Given the description of an element on the screen output the (x, y) to click on. 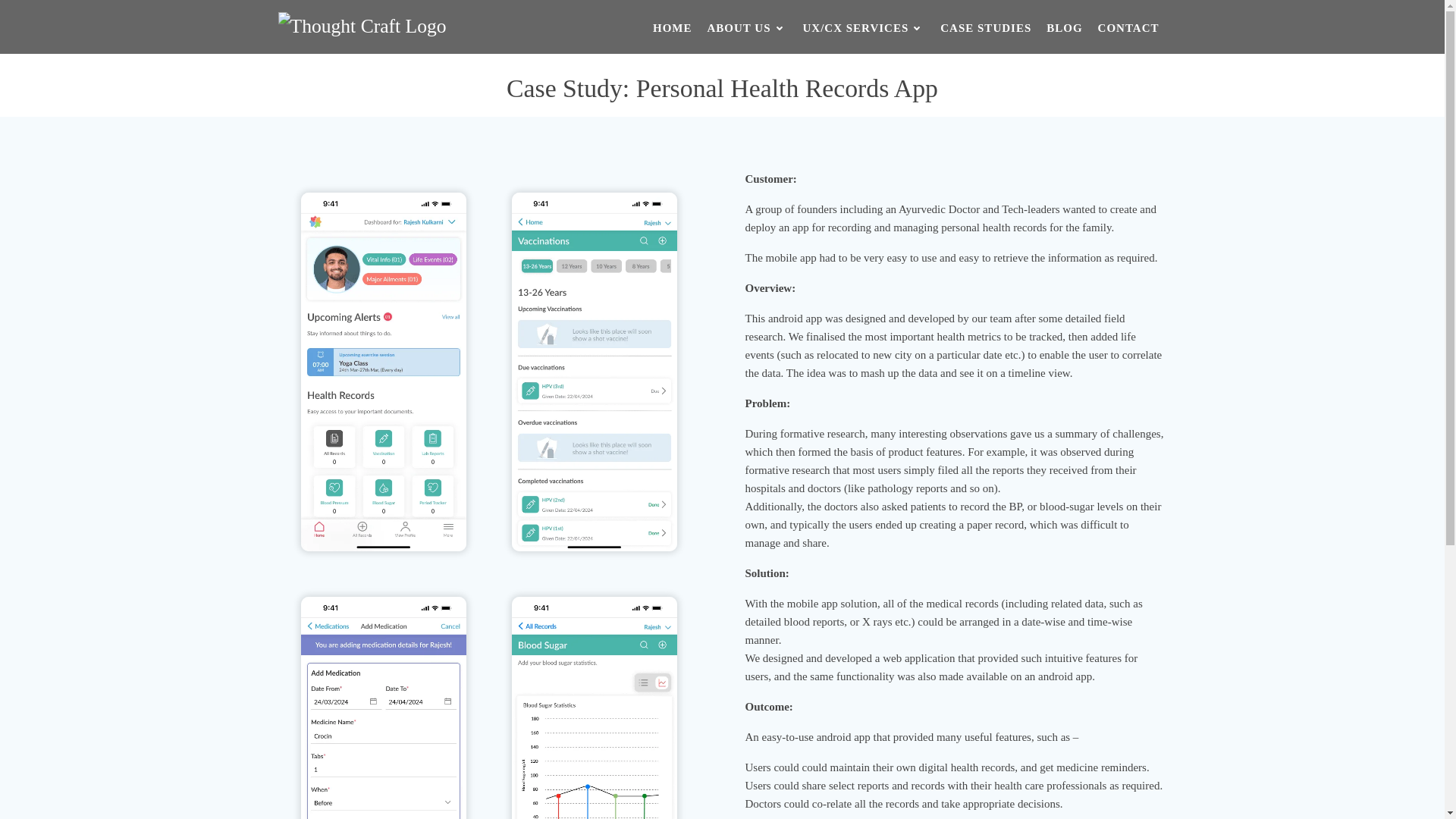
CONTACT (1127, 28)
ABOUT US (747, 28)
CASE STUDIES (985, 28)
HOME (672, 28)
BLOG (1063, 28)
